Given the description of an element on the screen output the (x, y) to click on. 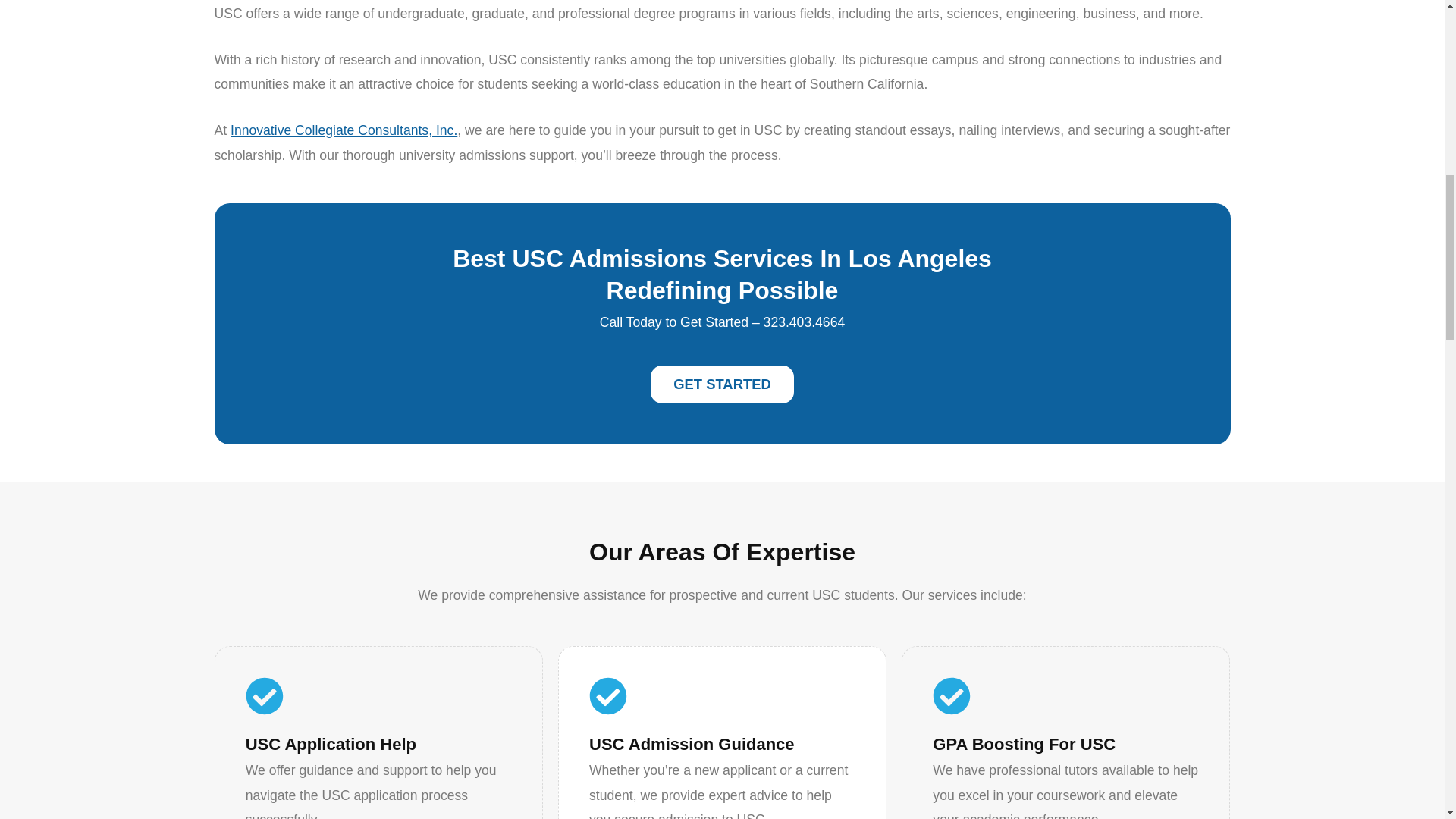
323.403.4664 (803, 322)
GET STARTED (721, 384)
Innovative Collegiate Consultants, Inc. (343, 130)
